Given the description of an element on the screen output the (x, y) to click on. 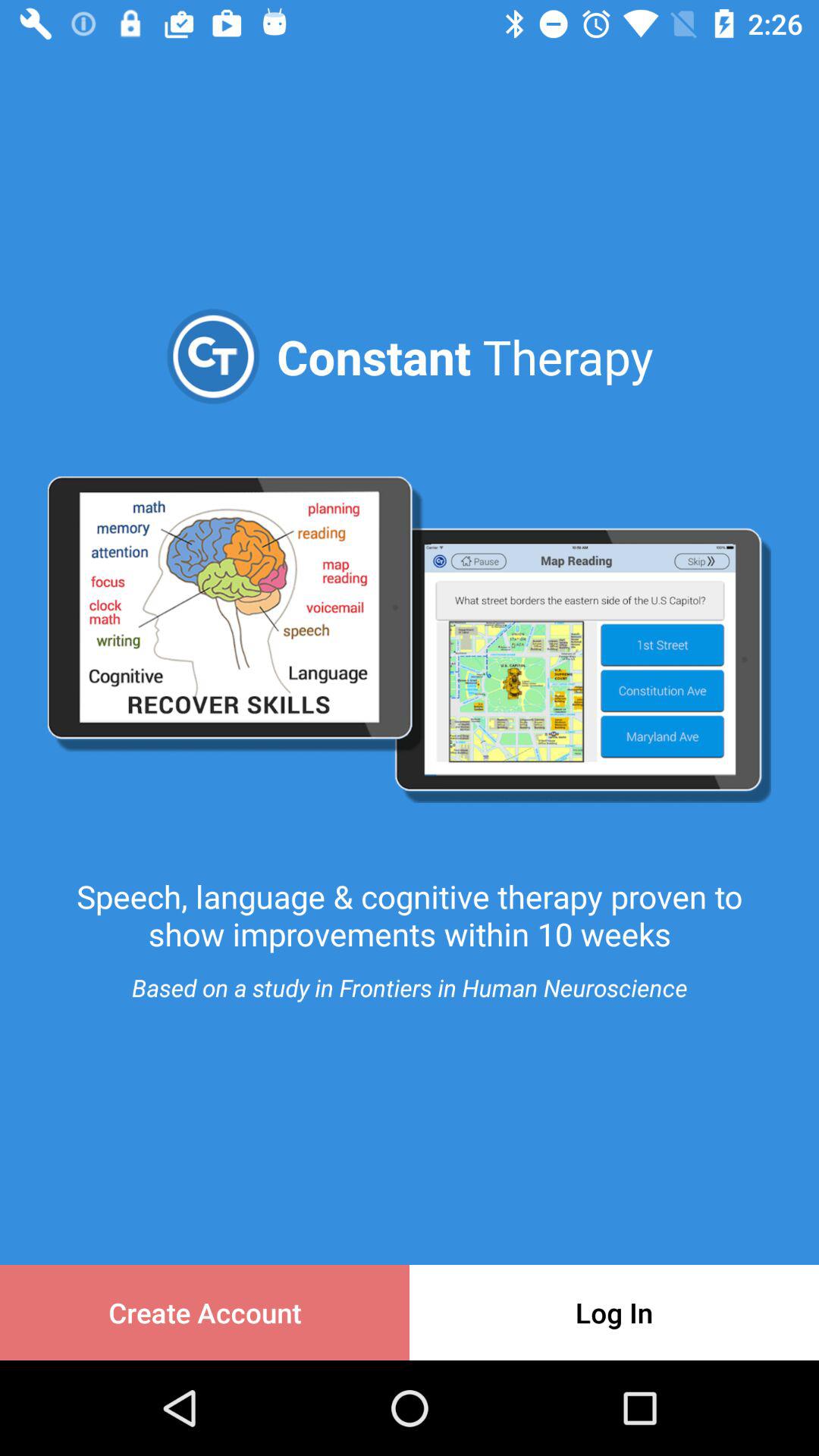
select the item to the right of the create account item (614, 1312)
